Given the description of an element on the screen output the (x, y) to click on. 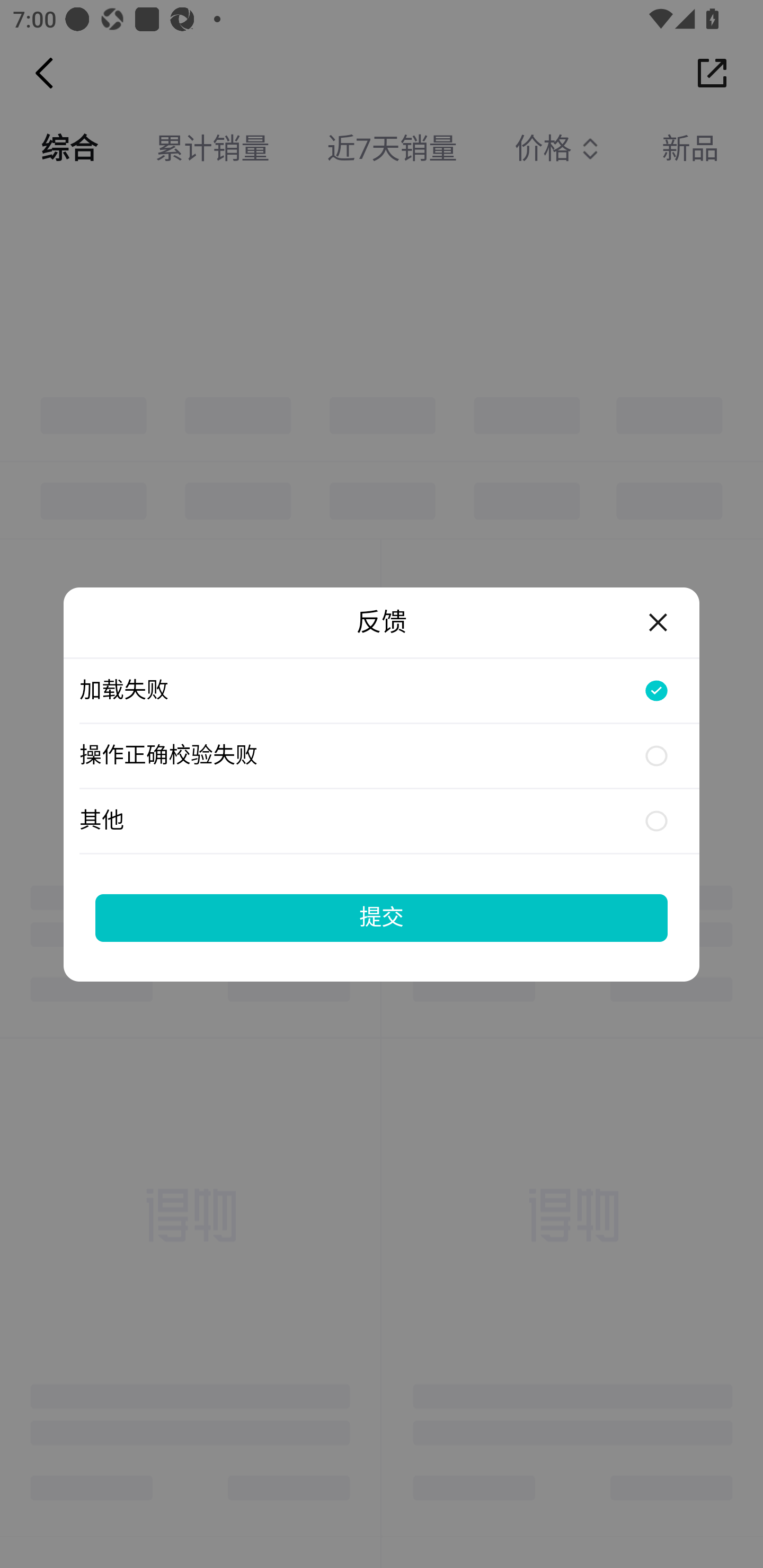
提交 (381, 917)
